Given the description of an element on the screen output the (x, y) to click on. 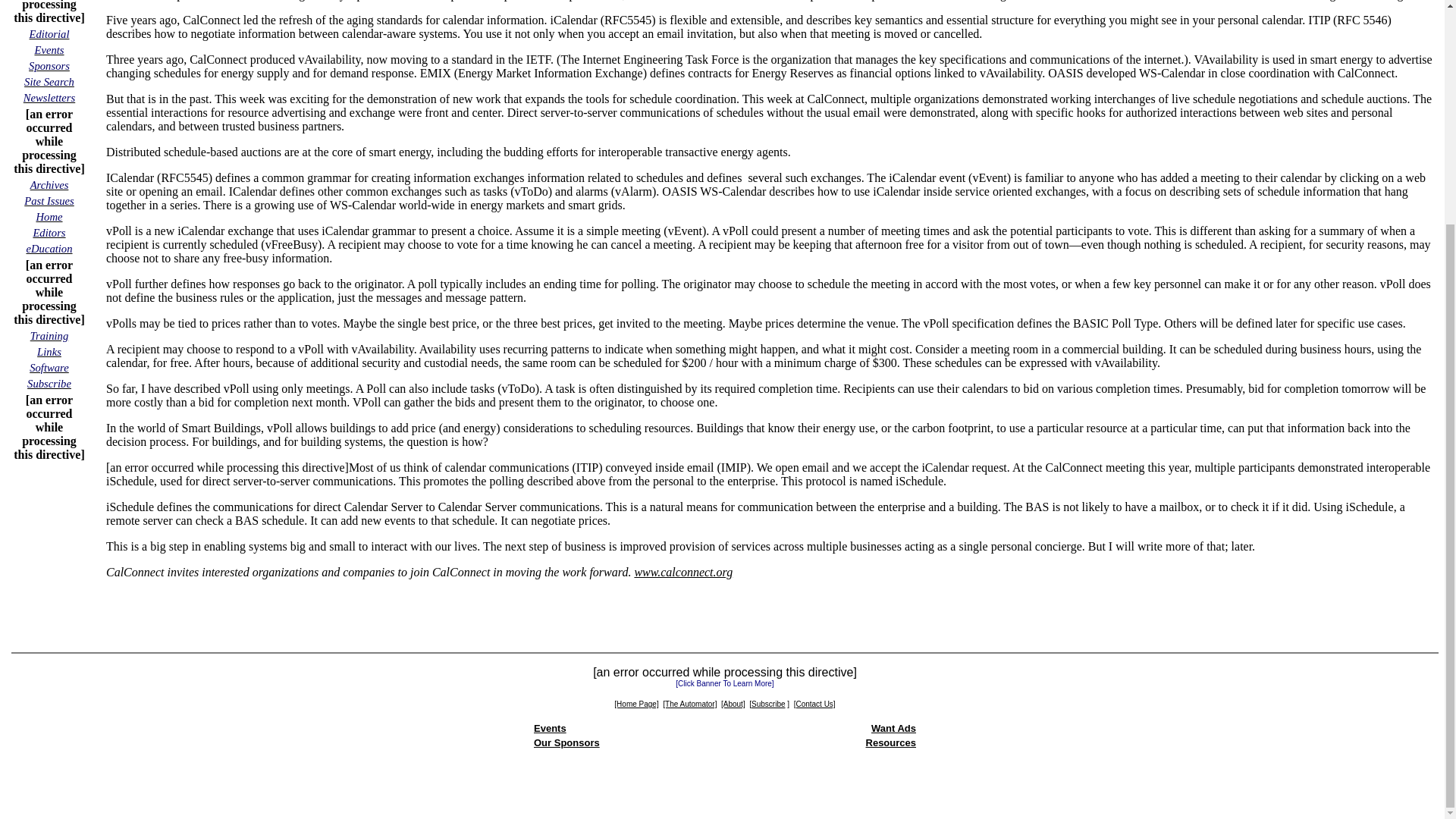
Subscribe (49, 382)
Subscribe (767, 702)
Software (48, 367)
Links (49, 350)
Archives (49, 184)
Our Sponsors (566, 742)
Past Issues (49, 200)
Resources (890, 742)
Sponsors (49, 65)
Want Ads (892, 727)
Site Search (49, 81)
Home (48, 215)
Editors (48, 232)
Events (48, 49)
Training (49, 335)
